Given the description of an element on the screen output the (x, y) to click on. 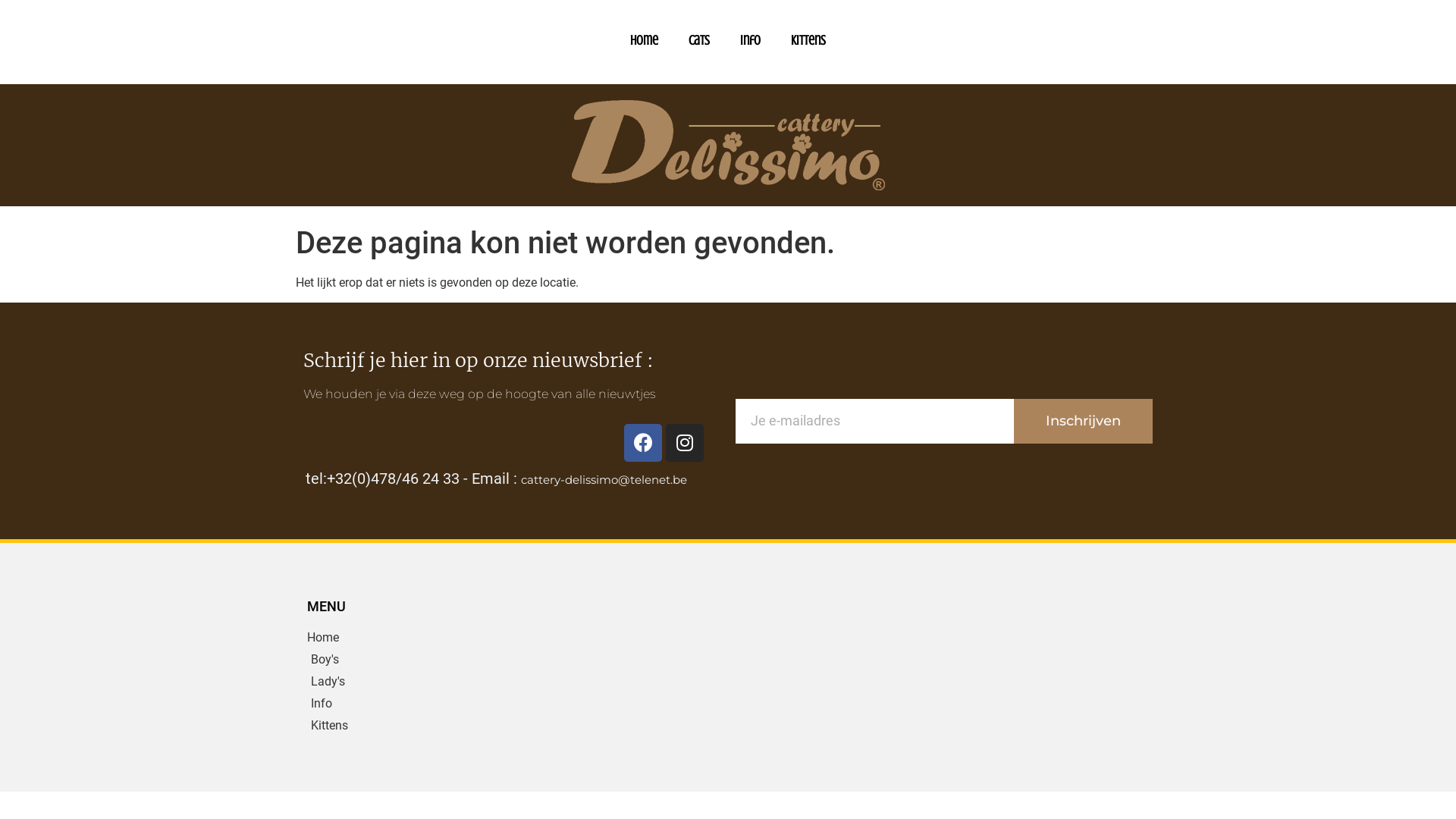
Boy's Element type: text (409, 659)
Info Element type: text (749, 39)
Inschrijven Element type: text (1082, 420)
Kittens Element type: text (409, 725)
Cats Element type: text (698, 39)
Home Element type: text (644, 39)
Info Element type: text (409, 703)
Lady's Element type: text (409, 681)
cattery-delissimo@telenet.be Element type: text (603, 479)
Kittens Element type: text (807, 39)
Home Element type: text (409, 637)
